Given the description of an element on the screen output the (x, y) to click on. 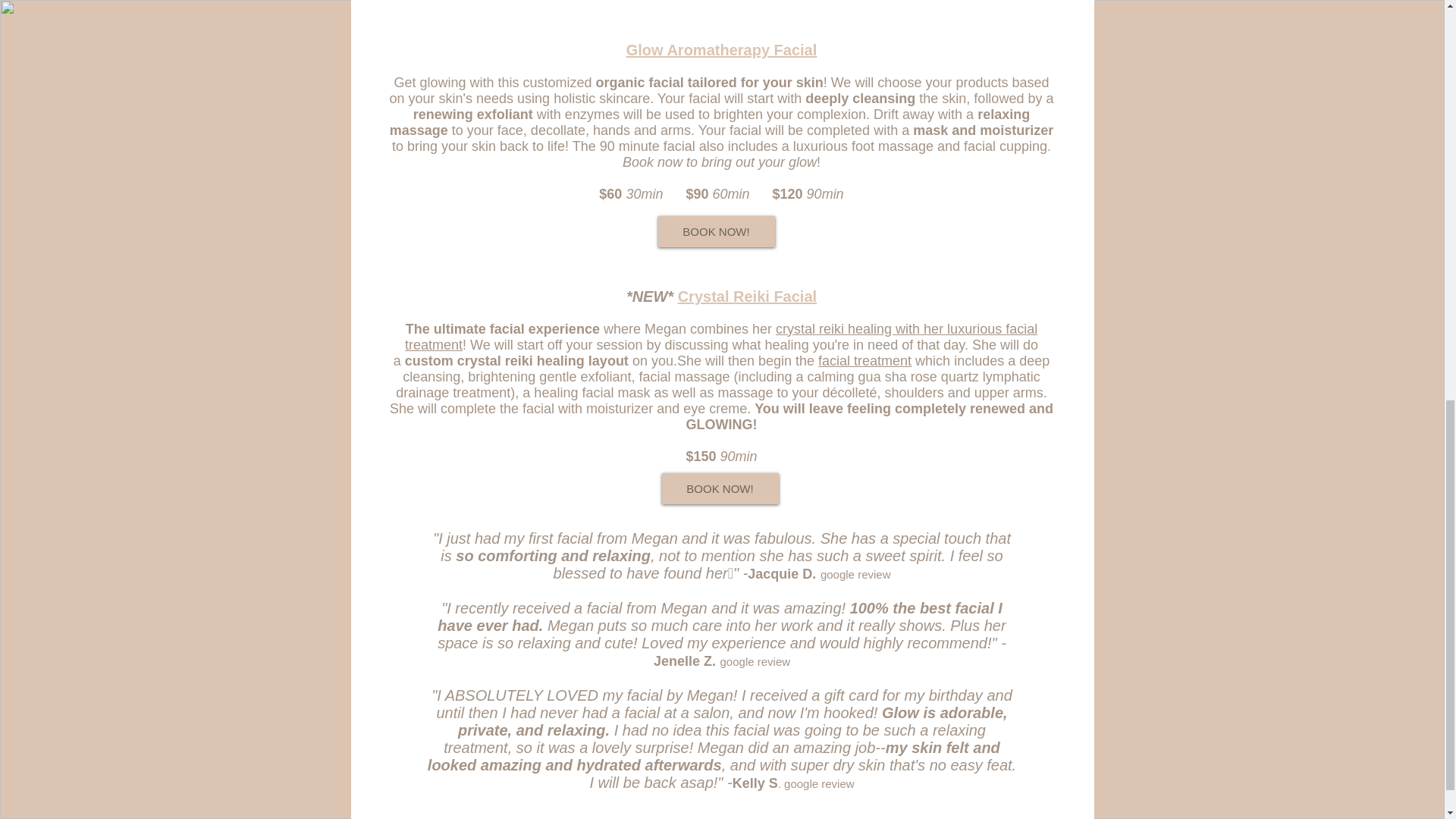
Jacquie D. (781, 573)
faical.jpg (721, 15)
BOOK NOW! (719, 488)
BOOK NOW! (716, 231)
google review (856, 574)
